Given the description of an element on the screen output the (x, y) to click on. 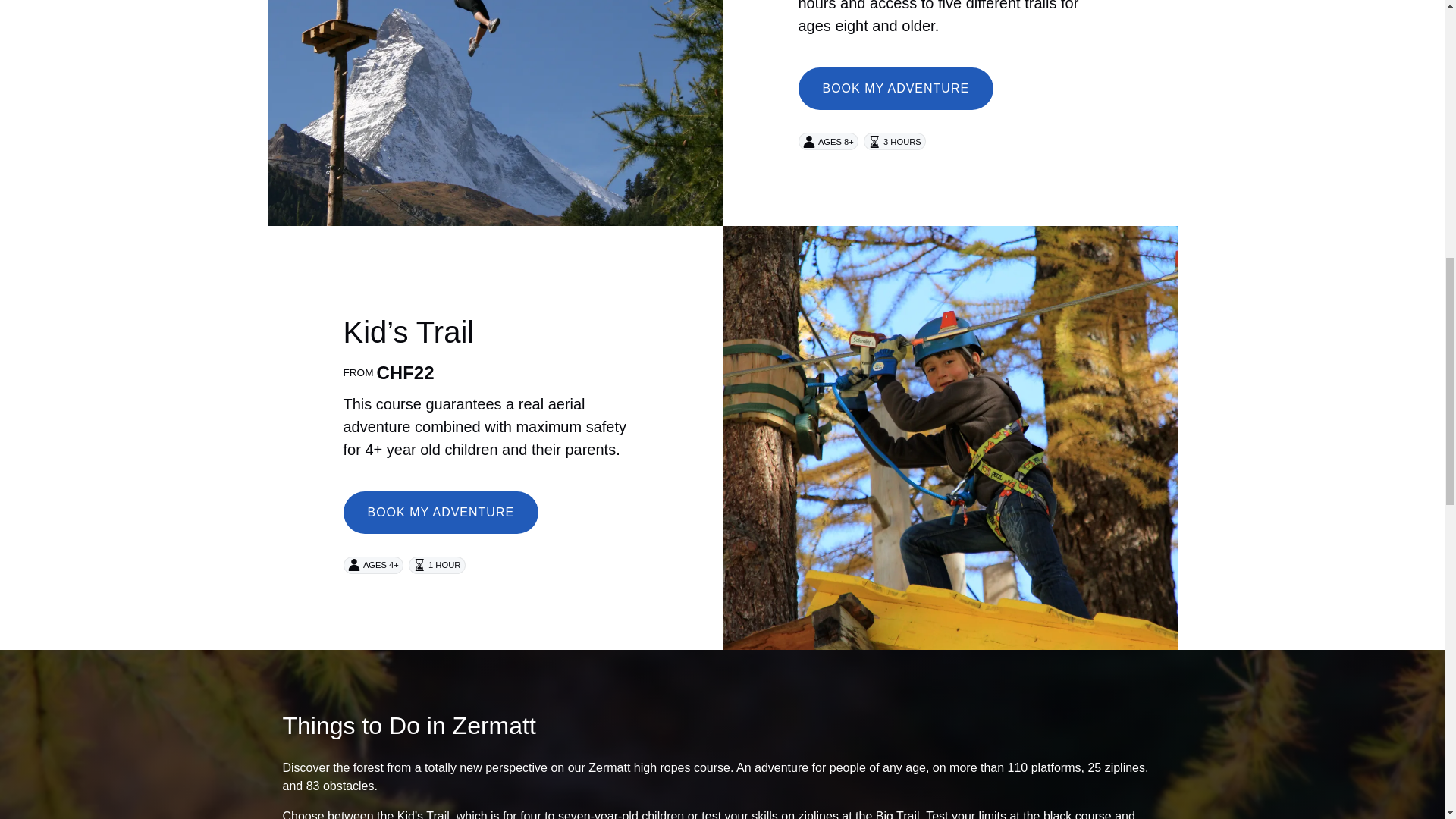
FareHarbor (1342, 64)
BOOK MY ADVENTURE (894, 75)
Big Trail (898, 814)
BOOK MY ADVENTURE (440, 499)
